Given the description of an element on the screen output the (x, y) to click on. 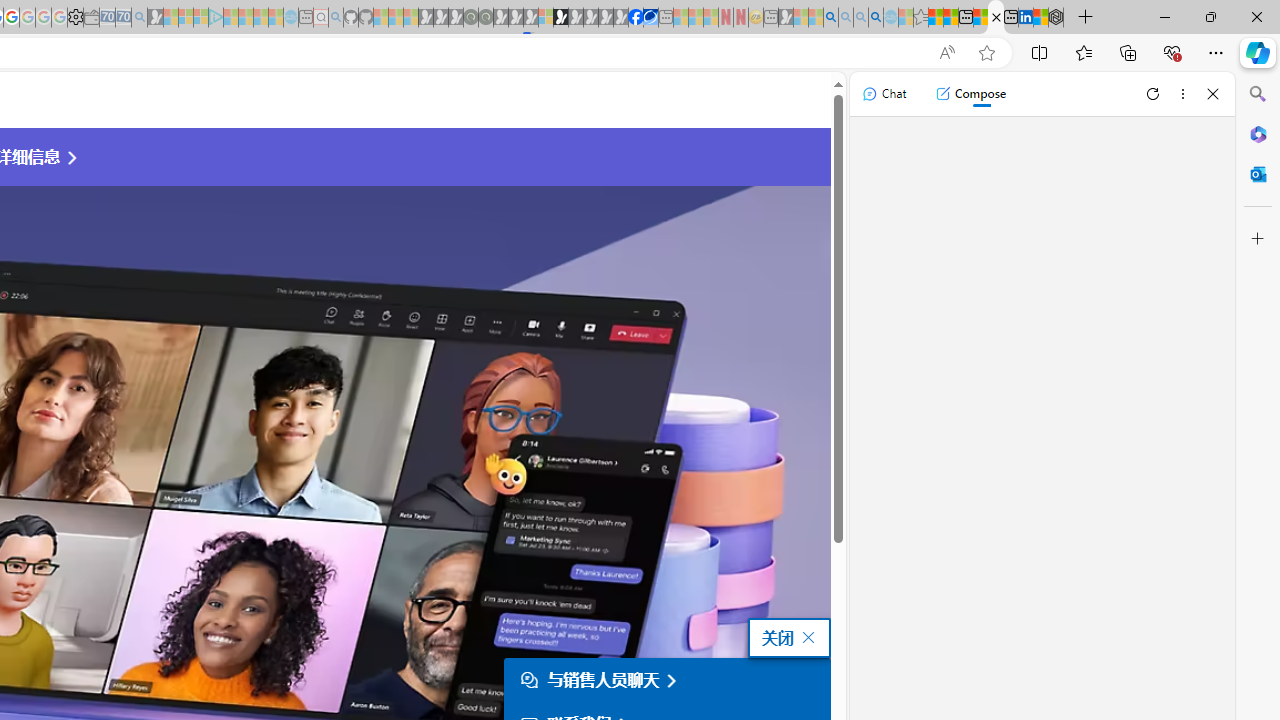
AQI & Health | AirNow.gov (650, 17)
LinkedIn (1025, 17)
github - Search - Sleeping (336, 17)
